Given the description of an element on the screen output the (x, y) to click on. 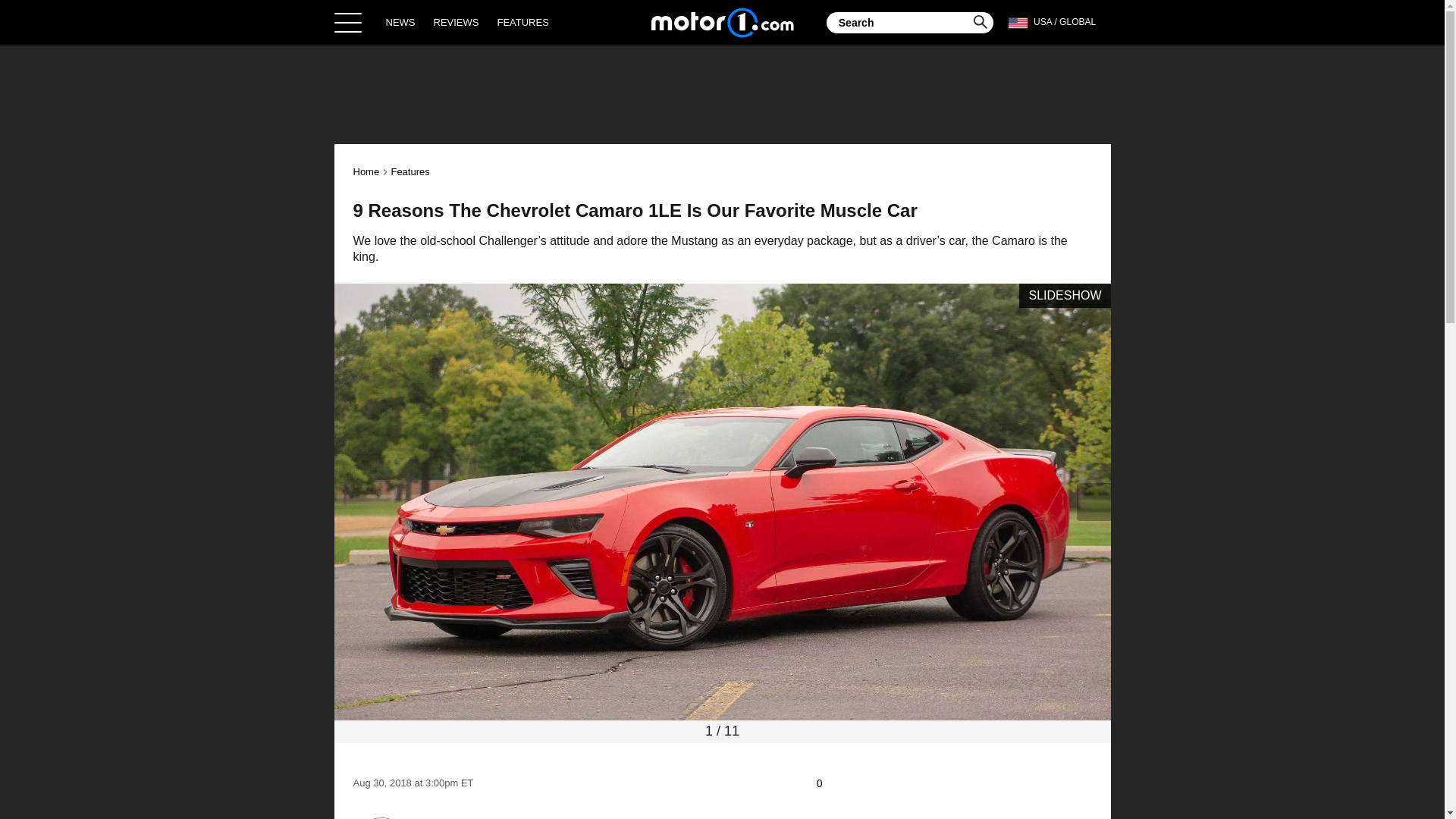
REVIEWS (456, 22)
Home (721, 22)
FEATURES (522, 22)
Home (366, 171)
0 (826, 782)
Features (409, 171)
NEWS (399, 22)
